Given the description of an element on the screen output the (x, y) to click on. 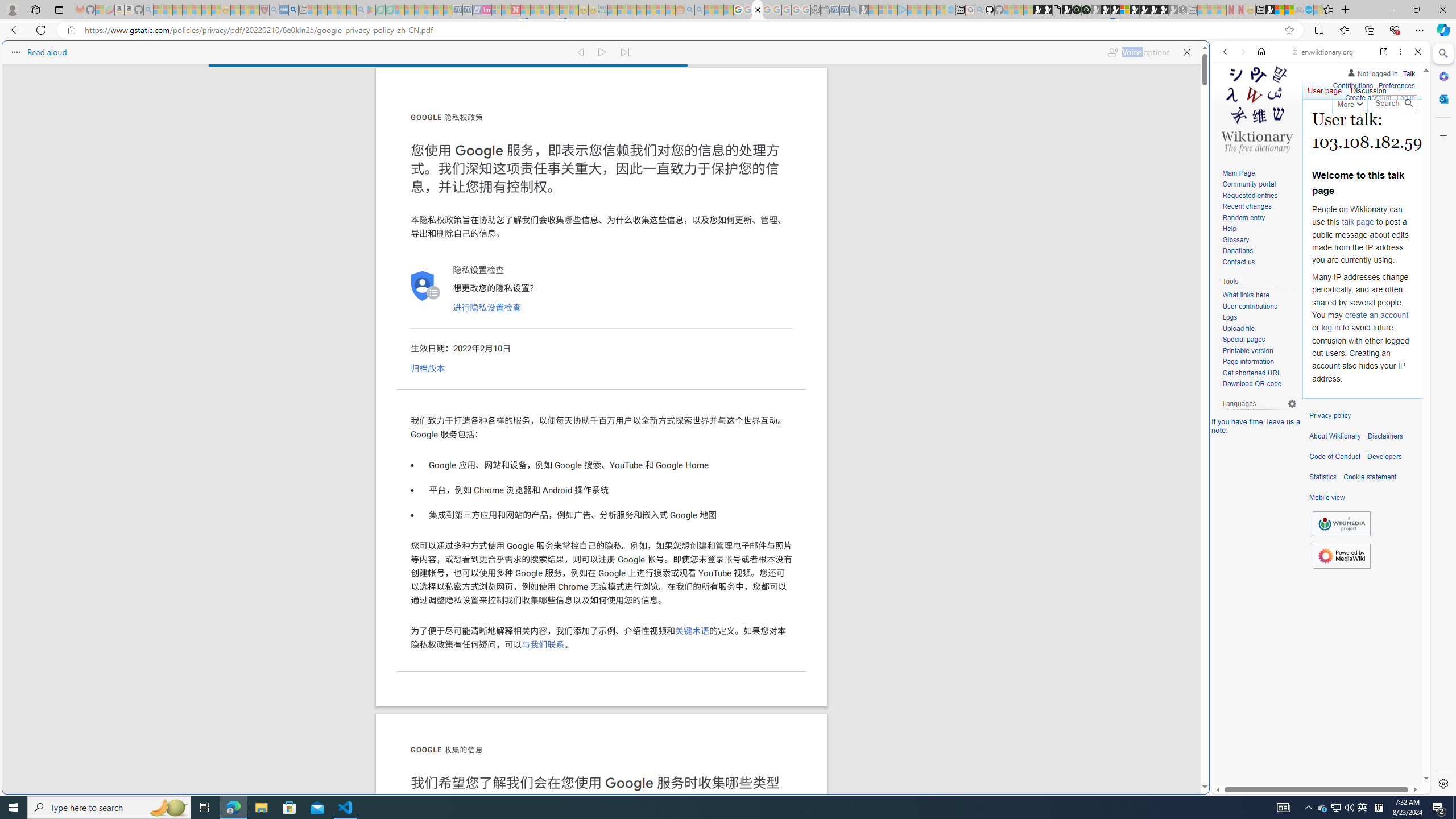
Search Filter, Search Tools (1350, 129)
talk page (1357, 221)
Requested entries (1249, 194)
Discussion (1367, 87)
google_privacy_policy_zh-CN.pdf (757, 9)
World - MSN (1279, 9)
World - MSN (727, 389)
Privacy policy (1329, 415)
Download QR code (1251, 384)
Get shortened URL (1251, 372)
